Given the description of an element on the screen output the (x, y) to click on. 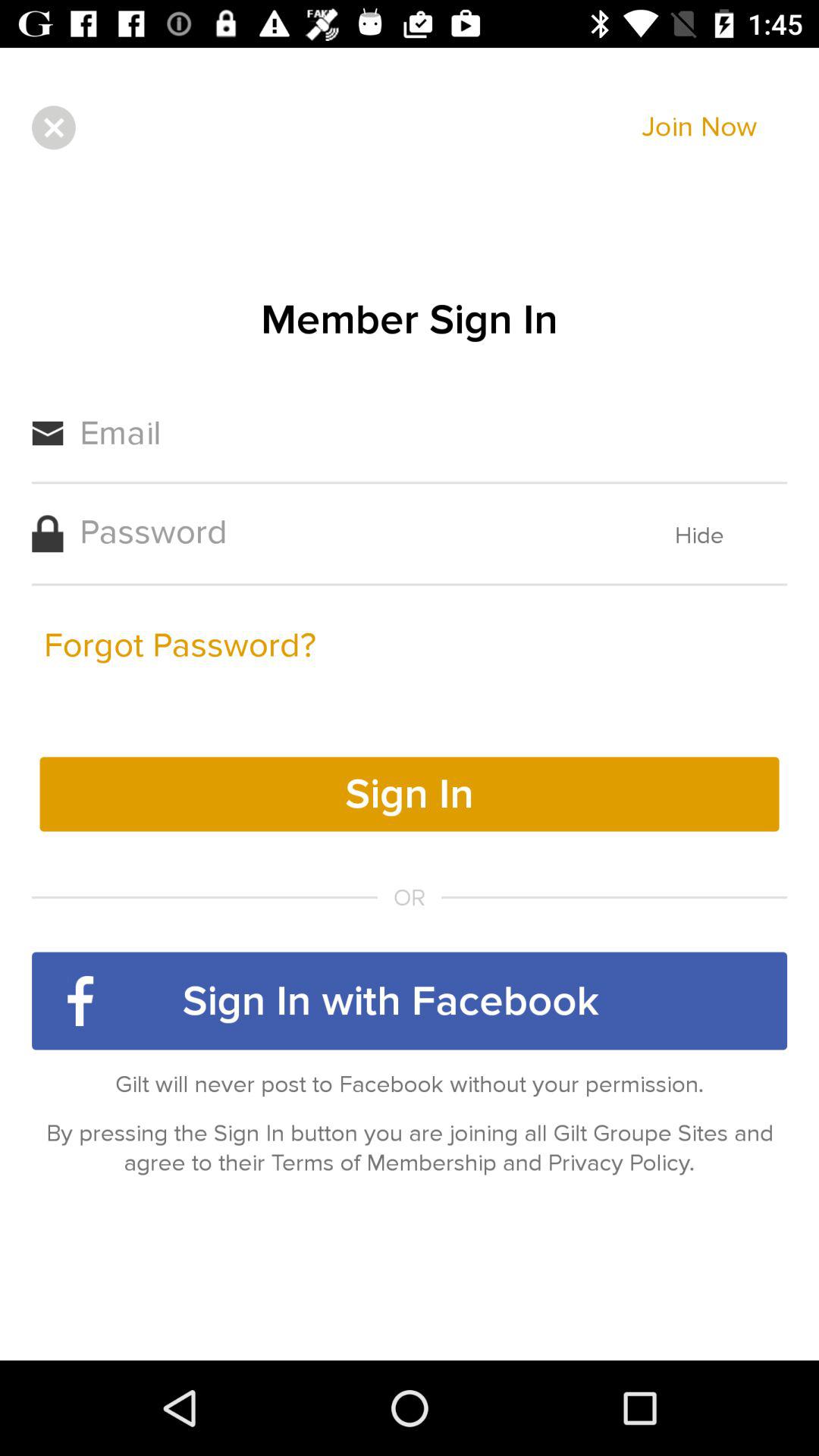
password area (345, 532)
